Given the description of an element on the screen output the (x, y) to click on. 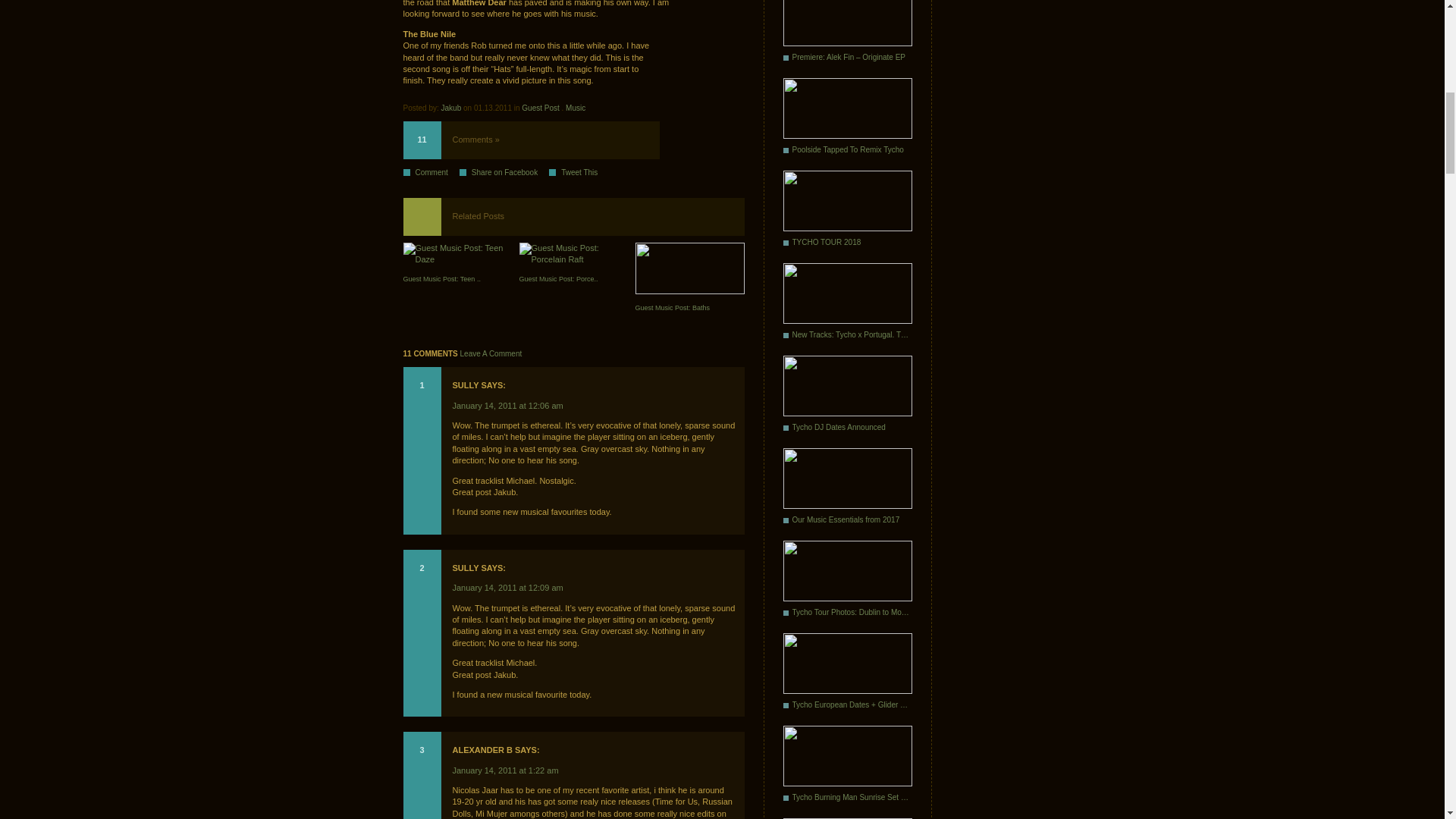
Jakub (451, 108)
Guest Music Post: Teen .. (457, 265)
Guest Music Post: Baths (689, 279)
Tweet This (578, 172)
Send this post to Twitter (578, 172)
Guest Music Post: Porce.. (572, 265)
Posts by Jakub (451, 108)
Music (575, 108)
Leave A Comment (491, 353)
January 14, 2011 at 1:22 am (504, 769)
